Given the description of an element on the screen output the (x, y) to click on. 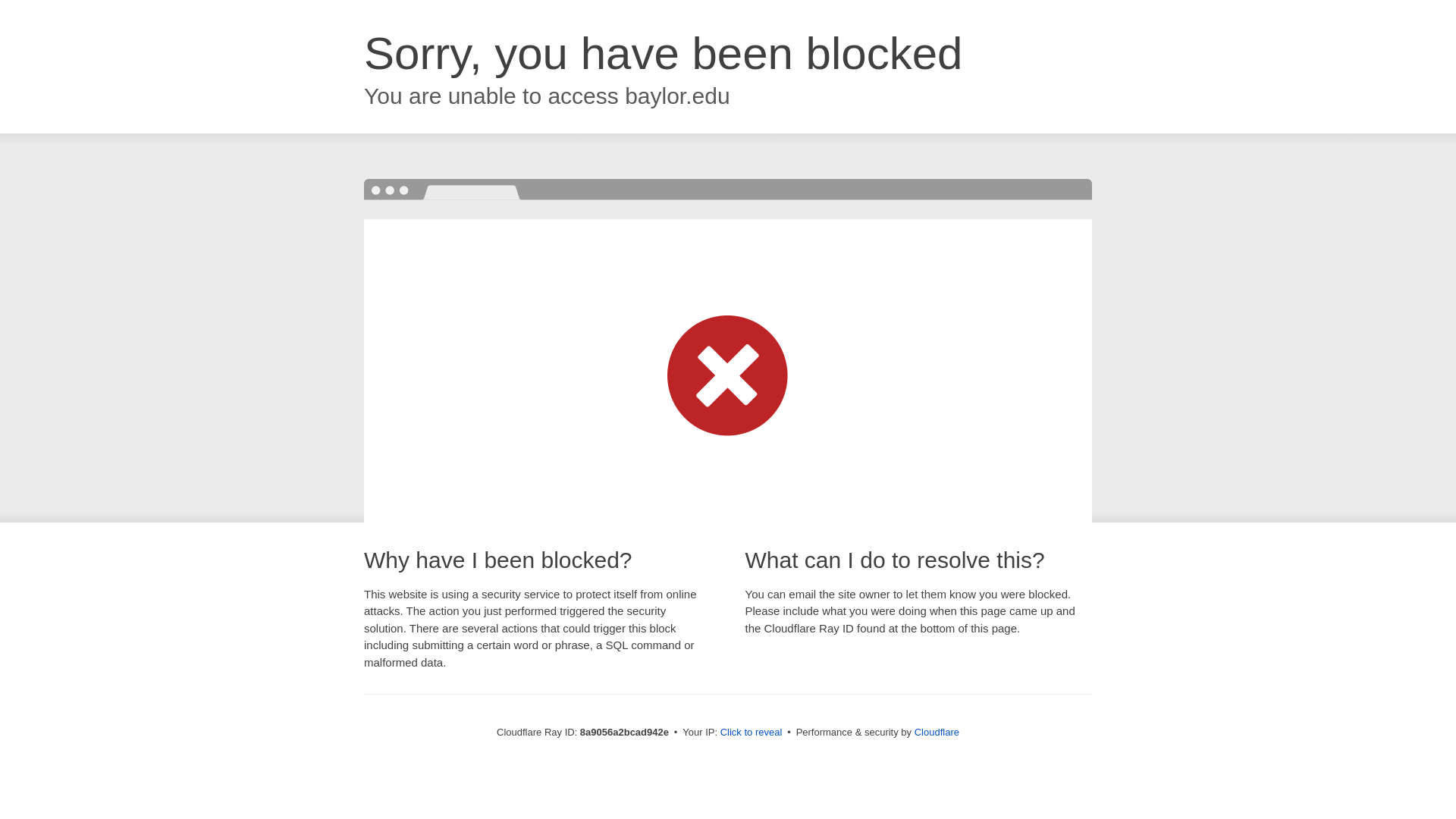
Cloudflare (936, 731)
Click to reveal (751, 732)
